Given the description of an element on the screen output the (x, y) to click on. 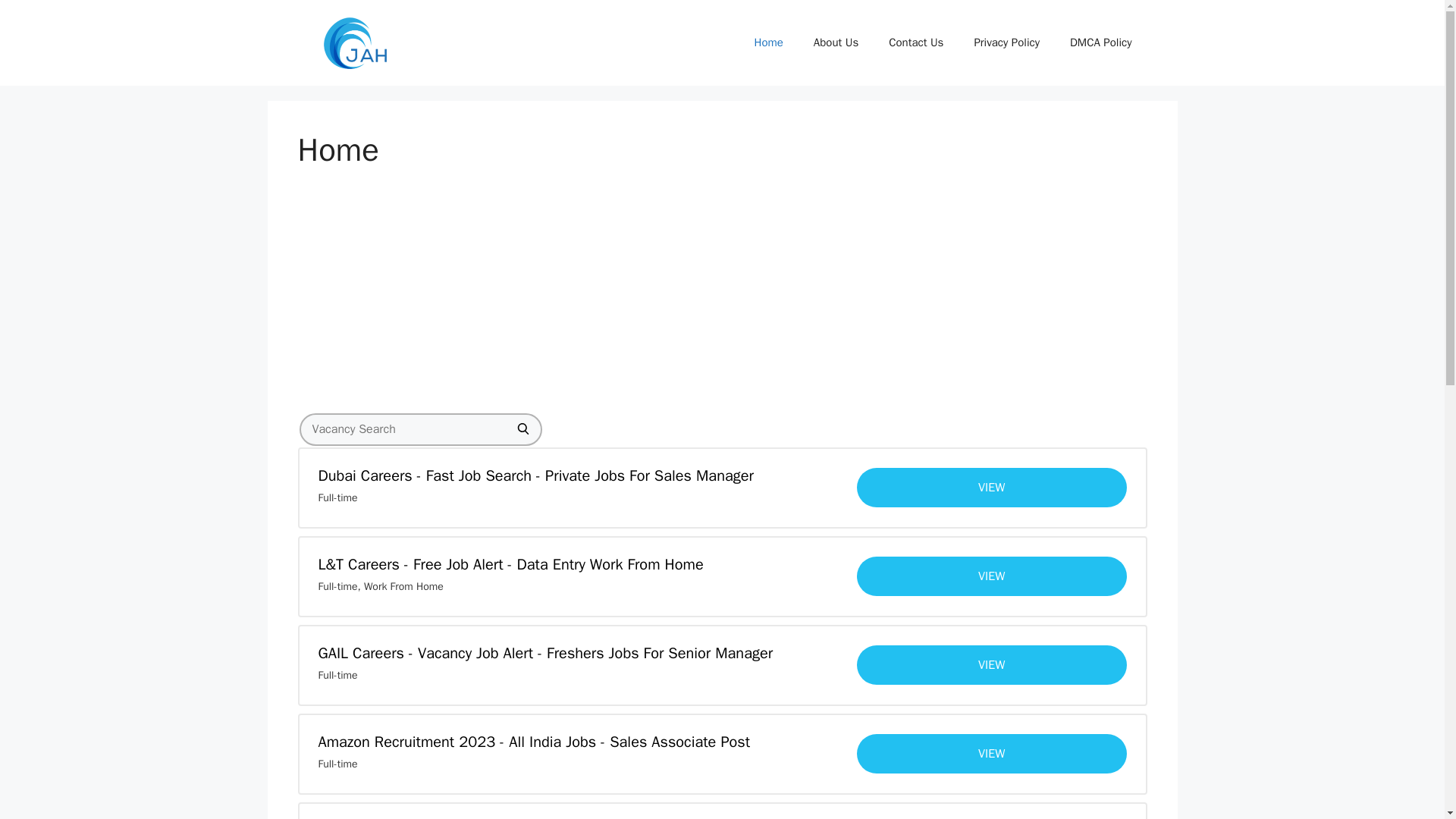
Contact Us (915, 42)
VIEW (991, 753)
Privacy Policy (1006, 42)
VIEW (991, 486)
VIEW (991, 664)
Home (767, 42)
DMCA Policy (1100, 42)
